Given the description of an element on the screen output the (x, y) to click on. 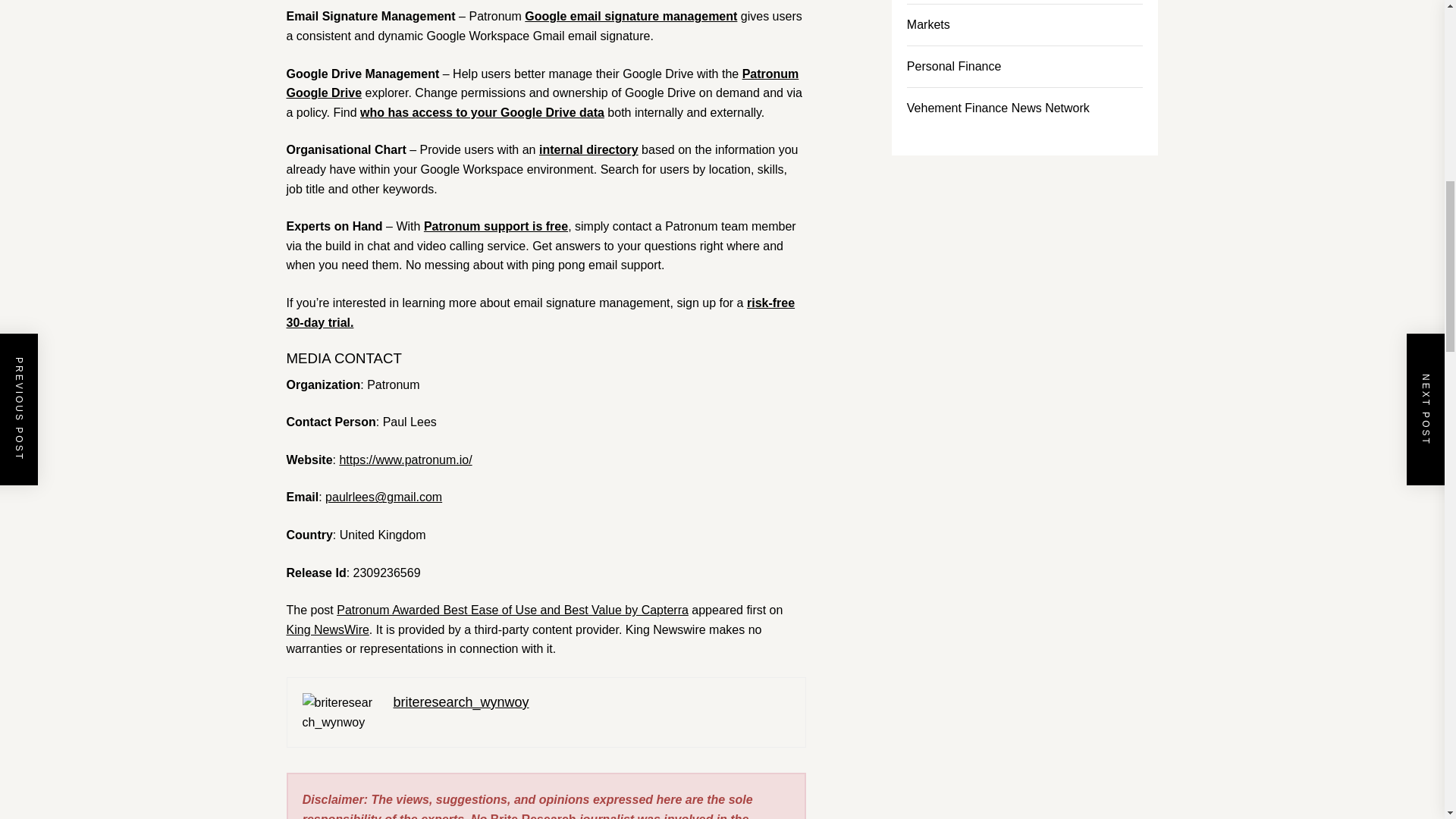
King NewsWire (327, 629)
internal directory (588, 149)
Patronum Google Drive (542, 83)
Patronum support is free (495, 226)
risk-free 30-day trial. (540, 312)
Patronum Awarded Best Ease of Use and Best Value by Capterra (512, 609)
Google email signature management (630, 15)
who has access to your Google Drive data (481, 112)
